Given the description of an element on the screen output the (x, y) to click on. 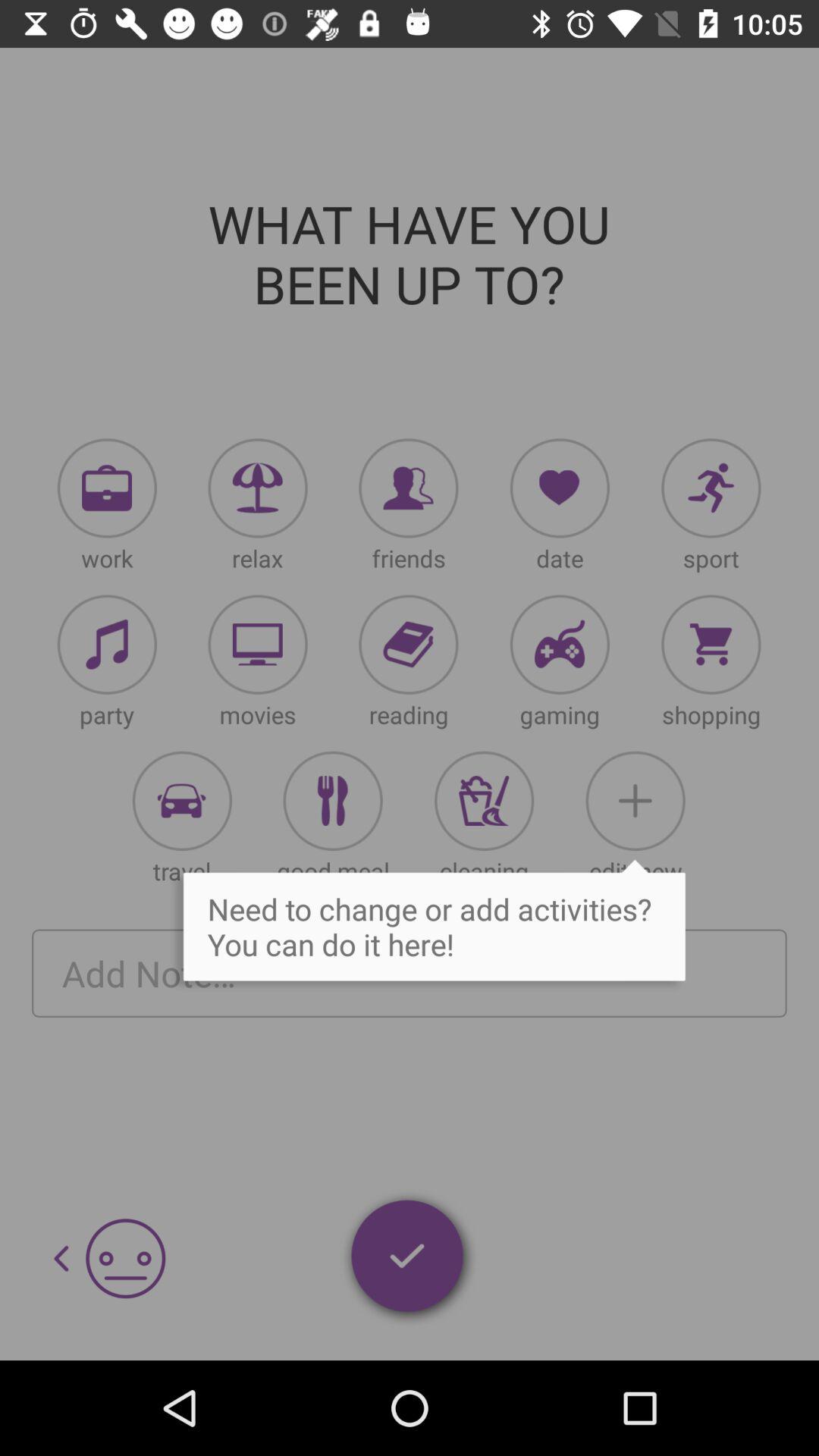
click activity (106, 644)
